Given the description of an element on the screen output the (x, y) to click on. 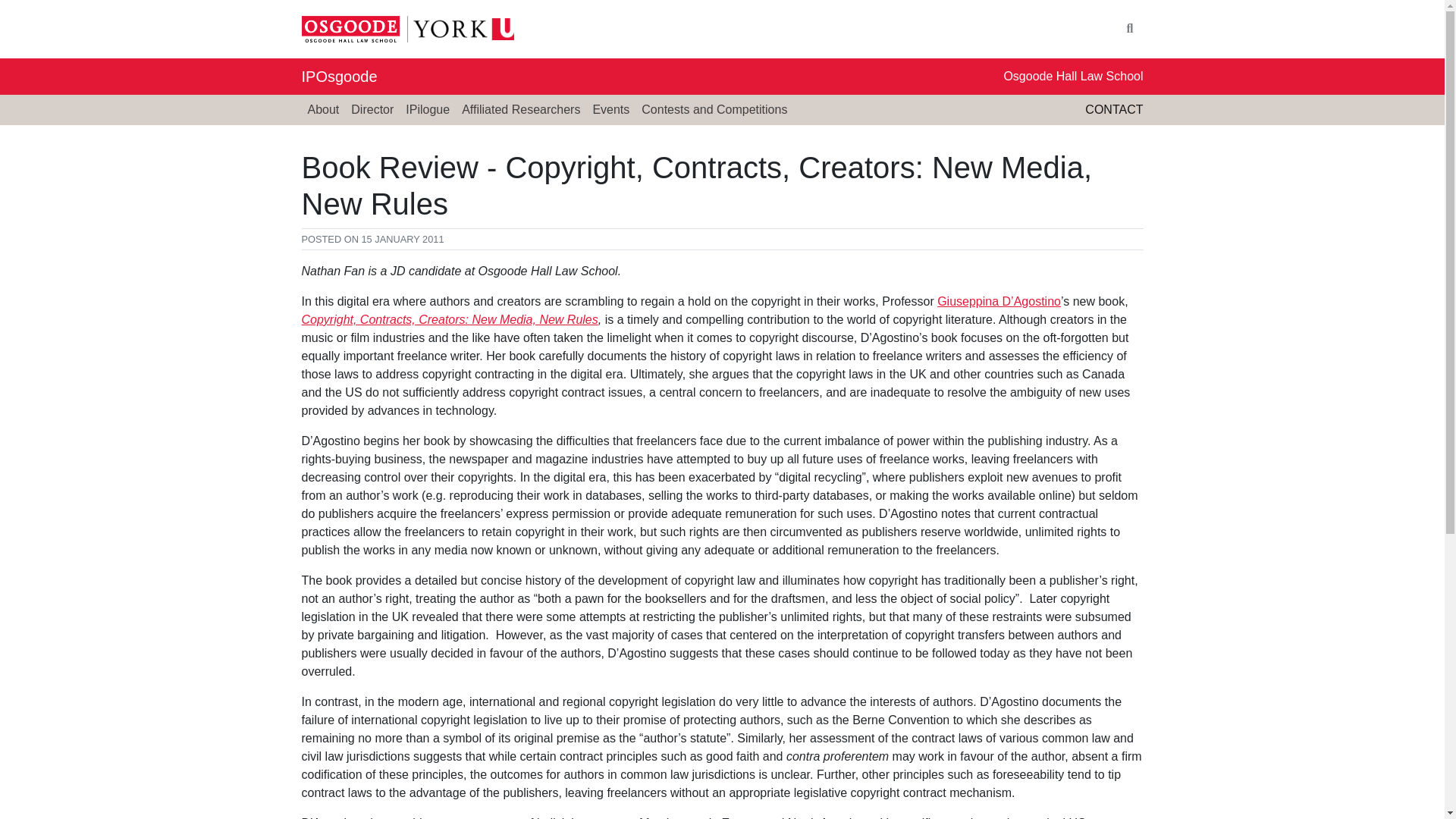
IPilogue (426, 110)
Events (610, 110)
Osgoode Hall Law School (1072, 75)
CONTACT (1113, 109)
Director (371, 110)
About (323, 110)
IPOsgoode (339, 76)
Search (1129, 28)
Affiliated Researchers (520, 110)
Contests and Competitions (713, 110)
